Given the description of an element on the screen output the (x, y) to click on. 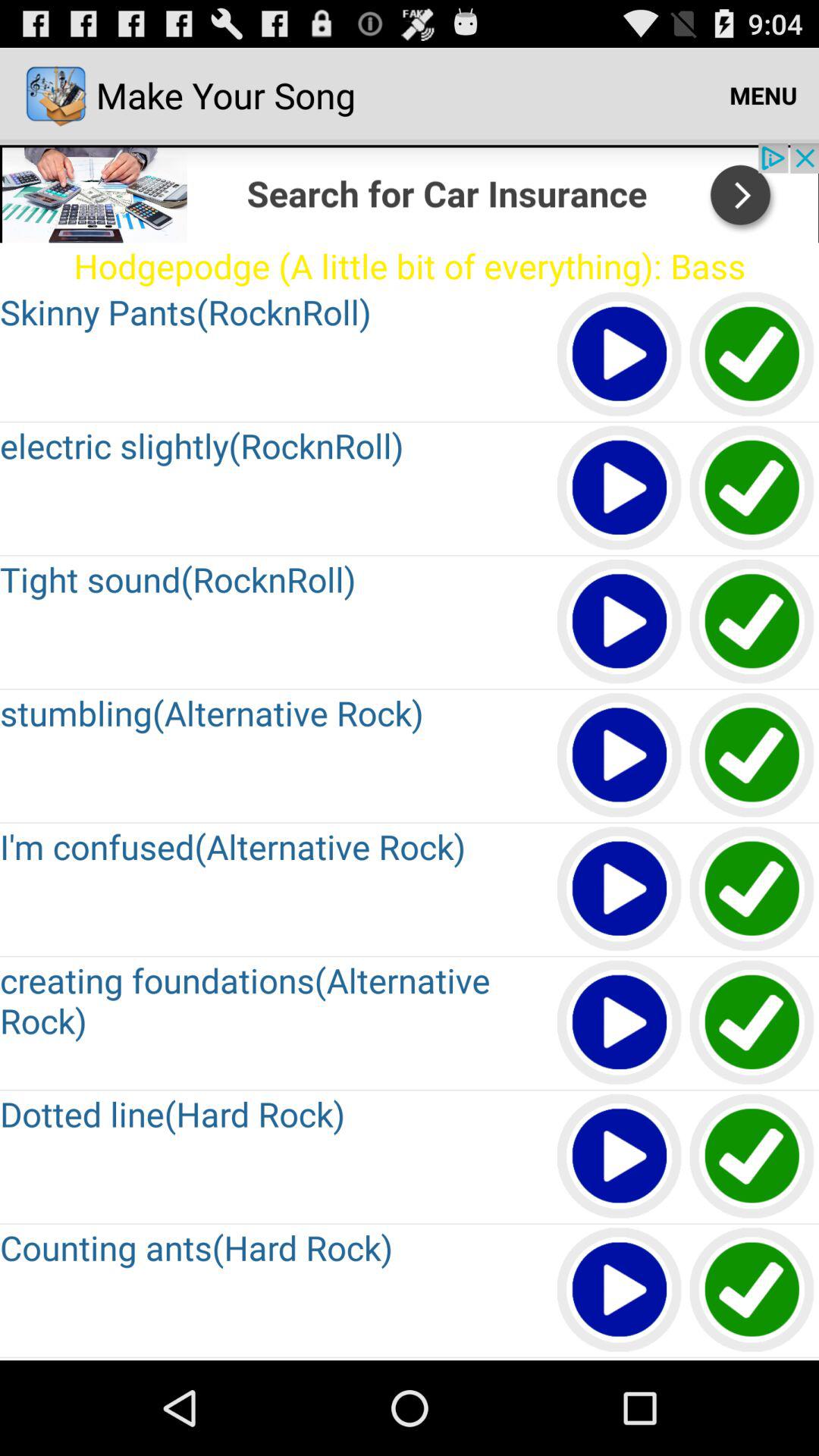
play the article (619, 755)
